Given the description of an element on the screen output the (x, y) to click on. 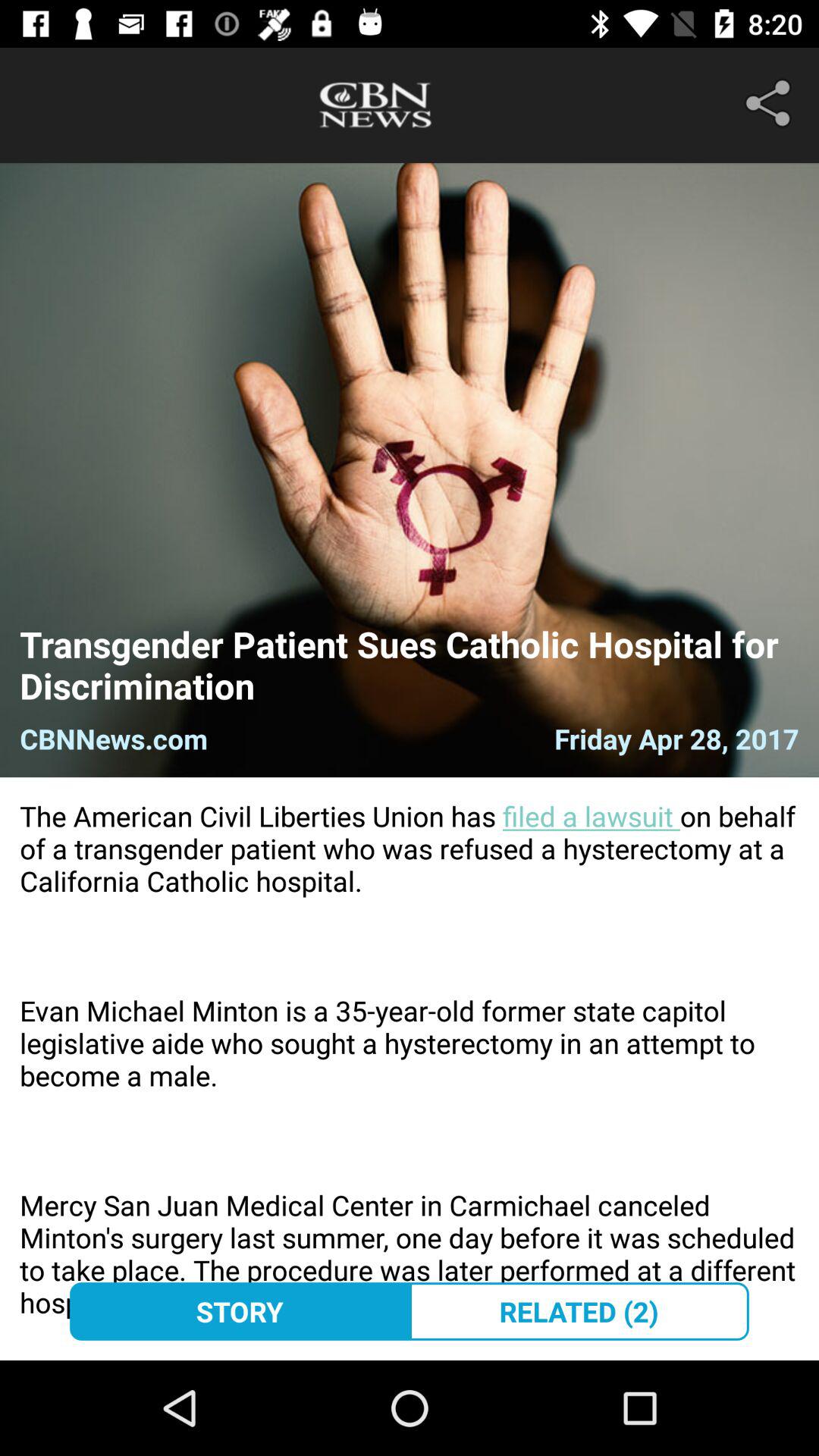
open related (2) at the bottom right corner (579, 1311)
